Given the description of an element on the screen output the (x, y) to click on. 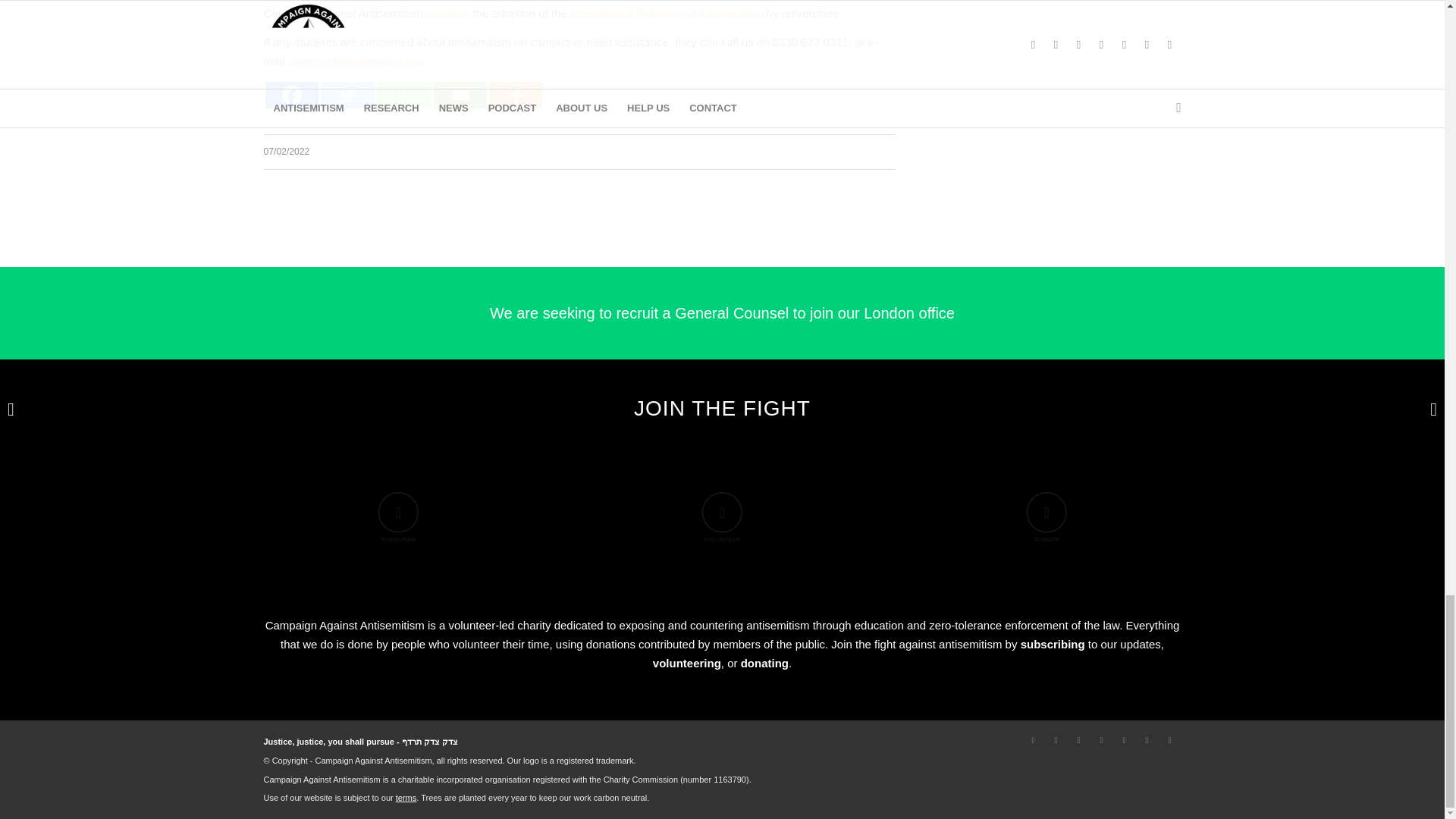
Email (459, 94)
Whatsapp (403, 94)
Facebook (291, 94)
Twitter (347, 94)
